Given the description of an element on the screen output the (x, y) to click on. 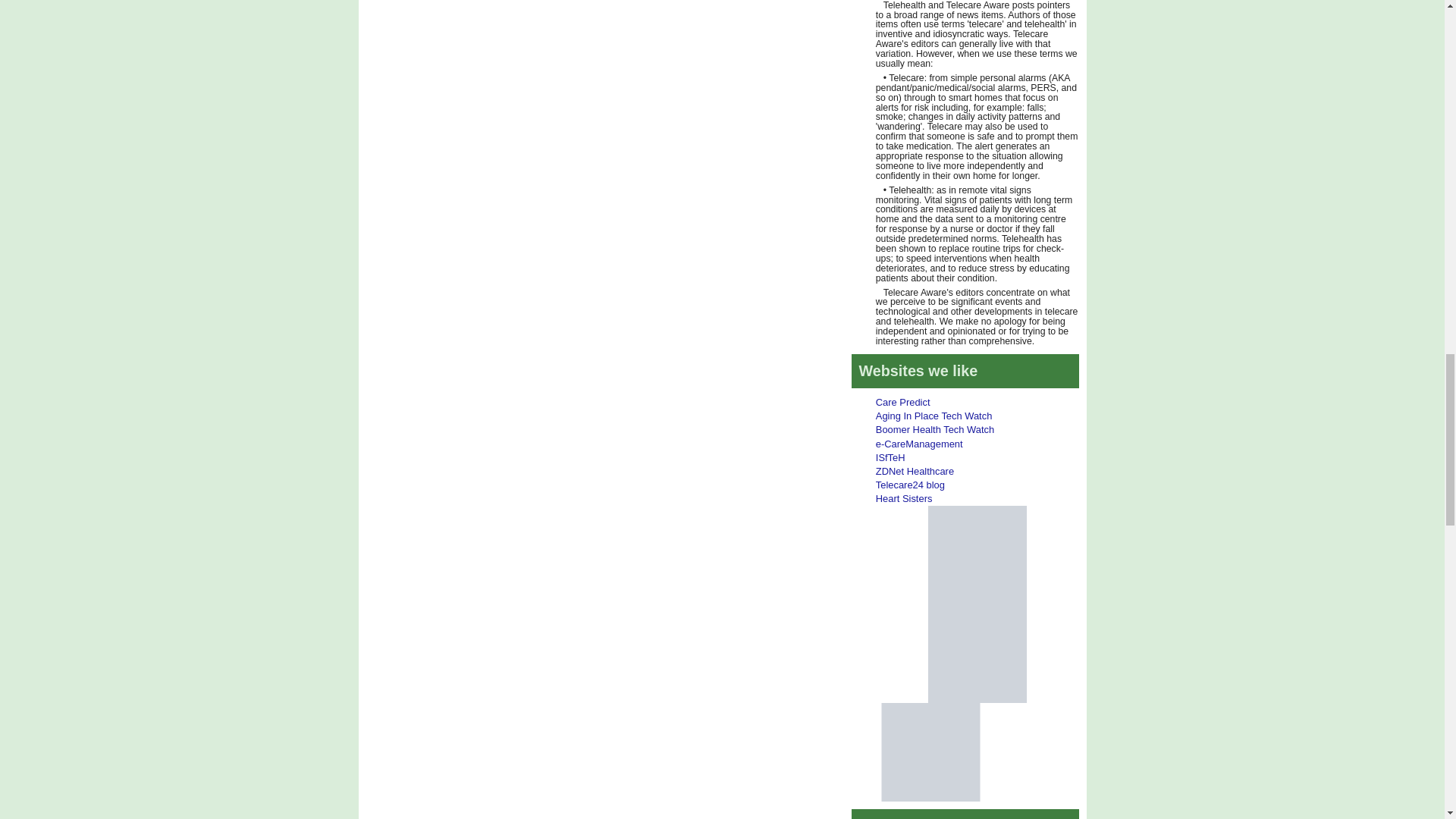
Care Predict (903, 401)
ISfTeH (890, 457)
Laurie Orlov's Aging In Place Tech Watch (934, 415)
TTA on Twitter (977, 553)
Boomer Health Tech Watch (935, 429)
Heart Sisters (904, 498)
e-CareManagement (919, 443)
ZDNet Healthcare (914, 471)
telecare24 blog (910, 484)
